Given the description of an element on the screen output the (x, y) to click on. 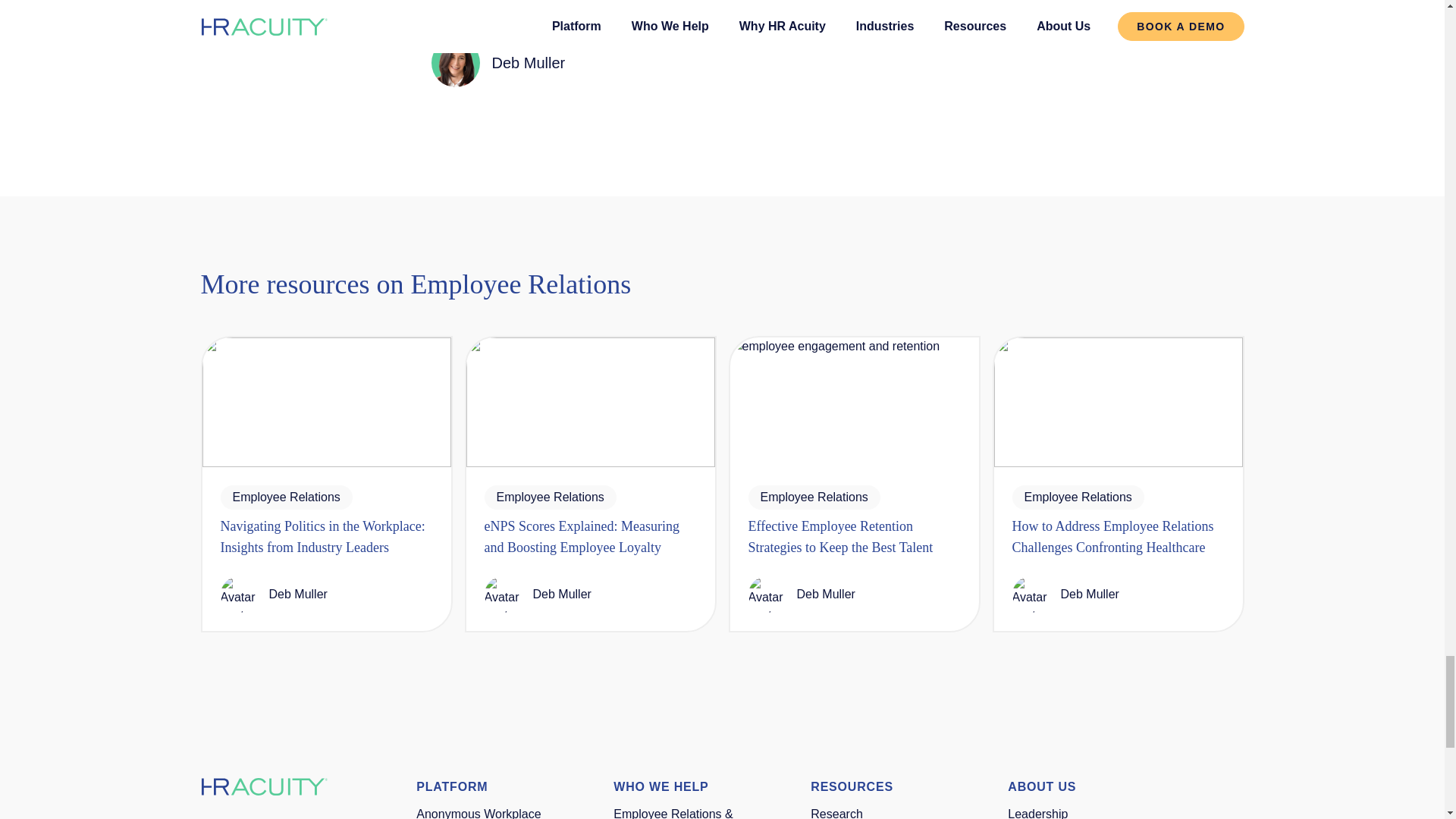
Feature image (589, 402)
Feature image (853, 402)
Feature image (325, 402)
Feature image (1116, 402)
